Given the description of an element on the screen output the (x, y) to click on. 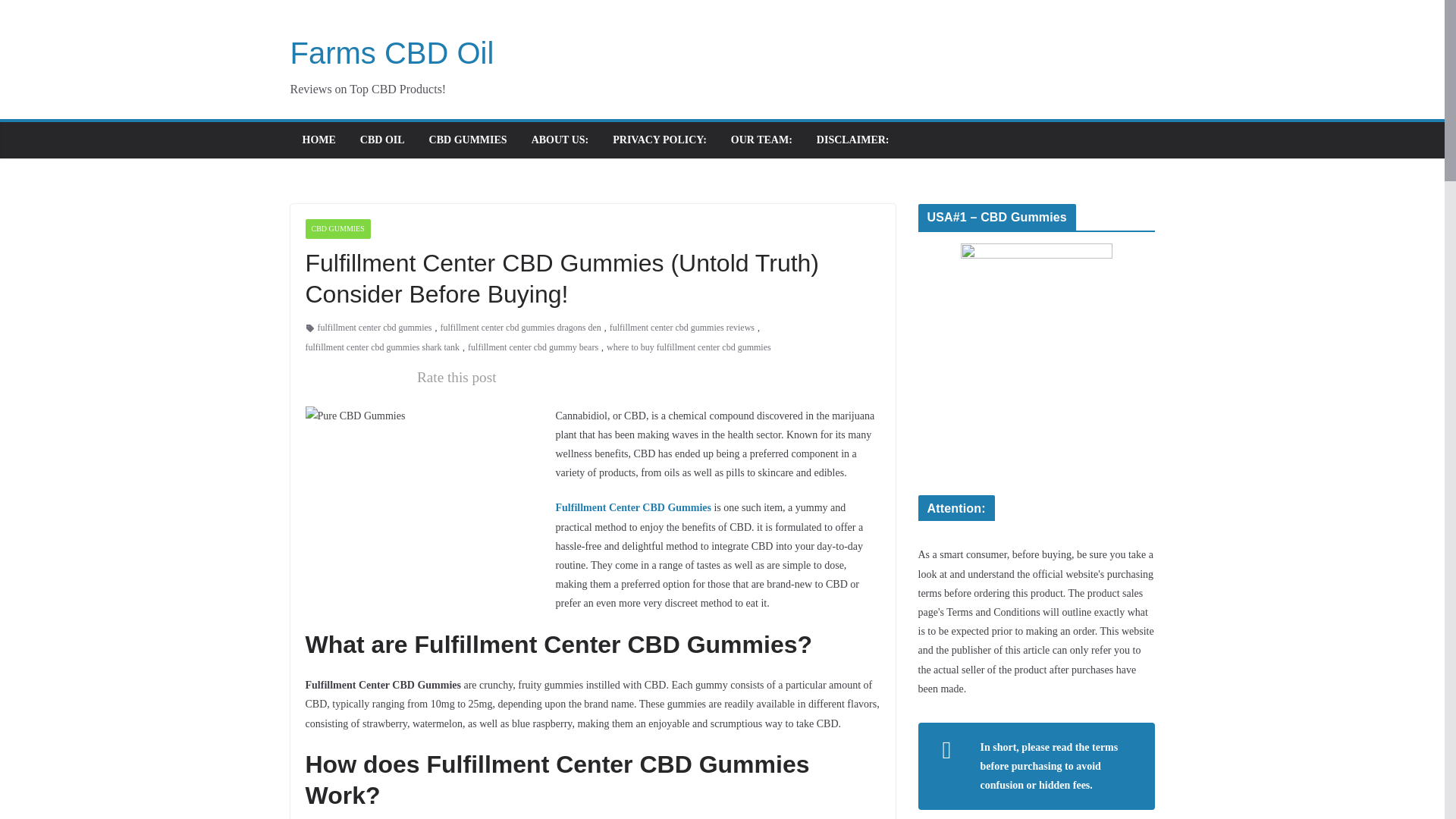
OUR TEAM: (761, 139)
HOME (317, 139)
fulfillment center cbd gummies dragons den (519, 328)
CBD GUMMIES (336, 229)
fulfillment center cbd gummies reviews (682, 328)
Fulfillment Center CBD Gummies (632, 507)
where to buy fulfillment center cbd gummies (689, 347)
fulfillment center cbd gummies (373, 328)
Farms CBD Oil (391, 52)
ABOUT US: (560, 139)
Farms CBD Oil (391, 52)
DISCLAIMER: (852, 139)
CBD GUMMIES (467, 139)
fulfillment center cbd gummies shark tank (382, 347)
CBD OIL (381, 139)
